Given the description of an element on the screen output the (x, y) to click on. 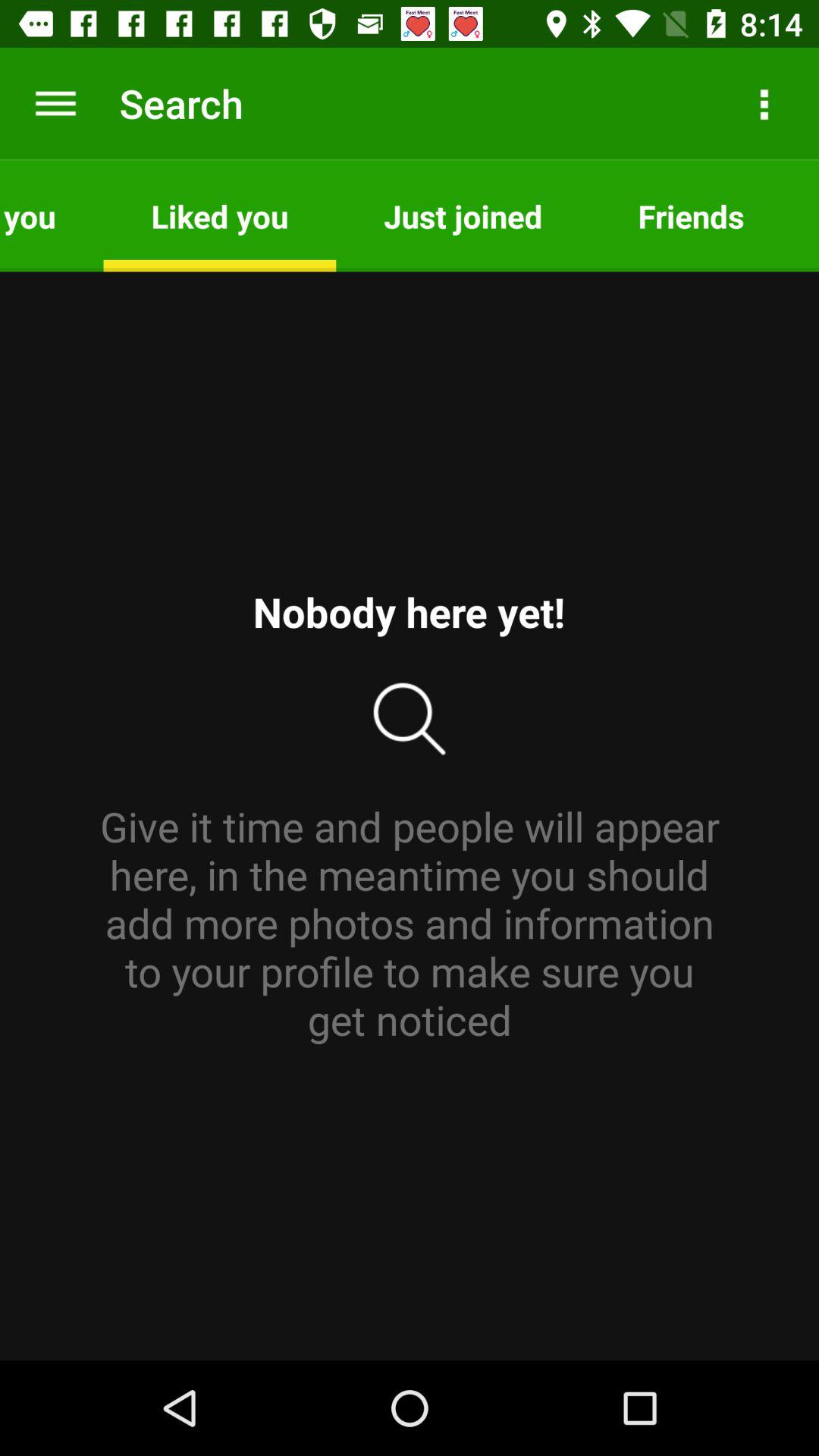
press icon to the left of the friends (463, 215)
